Given the description of an element on the screen output the (x, y) to click on. 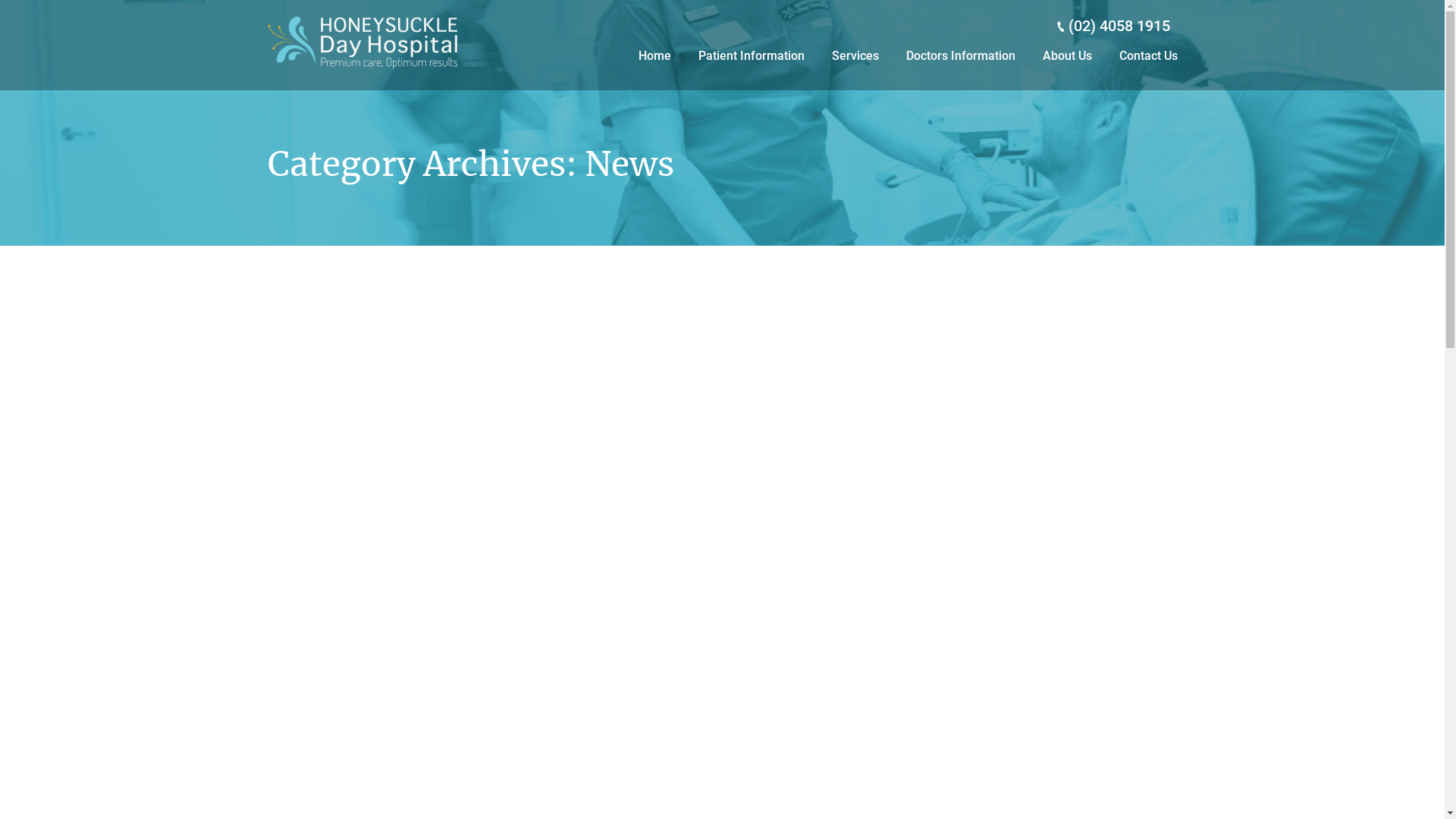
Home Element type: text (654, 55)
Services Element type: text (854, 55)
Contact Us Element type: text (1141, 55)
(02) 4058 1915 Element type: text (1118, 25)
Doctors Information Element type: text (959, 55)
Patient Information Element type: text (750, 55)
About Us Element type: text (1066, 55)
